Given the description of an element on the screen output the (x, y) to click on. 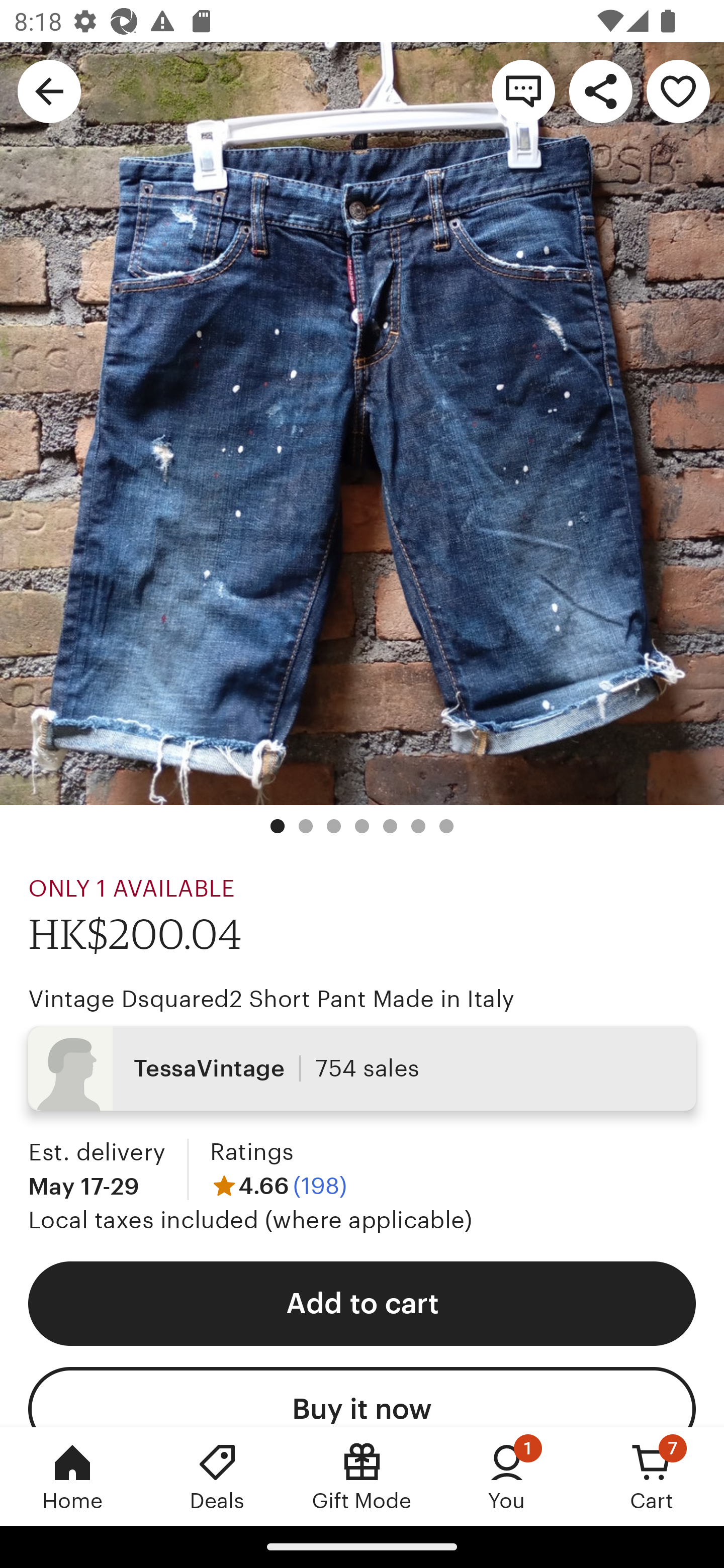
Navigate up (49, 90)
Contact shop (523, 90)
Share (600, 90)
Vintage Dsquared2 Short Pant Made in Italy (271, 999)
TessaVintage 754 sales (361, 1067)
Ratings (251, 1151)
4.66 (198) (277, 1185)
Add to cart (361, 1302)
Buy it now (361, 1396)
Deals (216, 1475)
Gift Mode (361, 1475)
You, 1 new notification You (506, 1475)
Cart, 7 new notifications Cart (651, 1475)
